Given the description of an element on the screen output the (x, y) to click on. 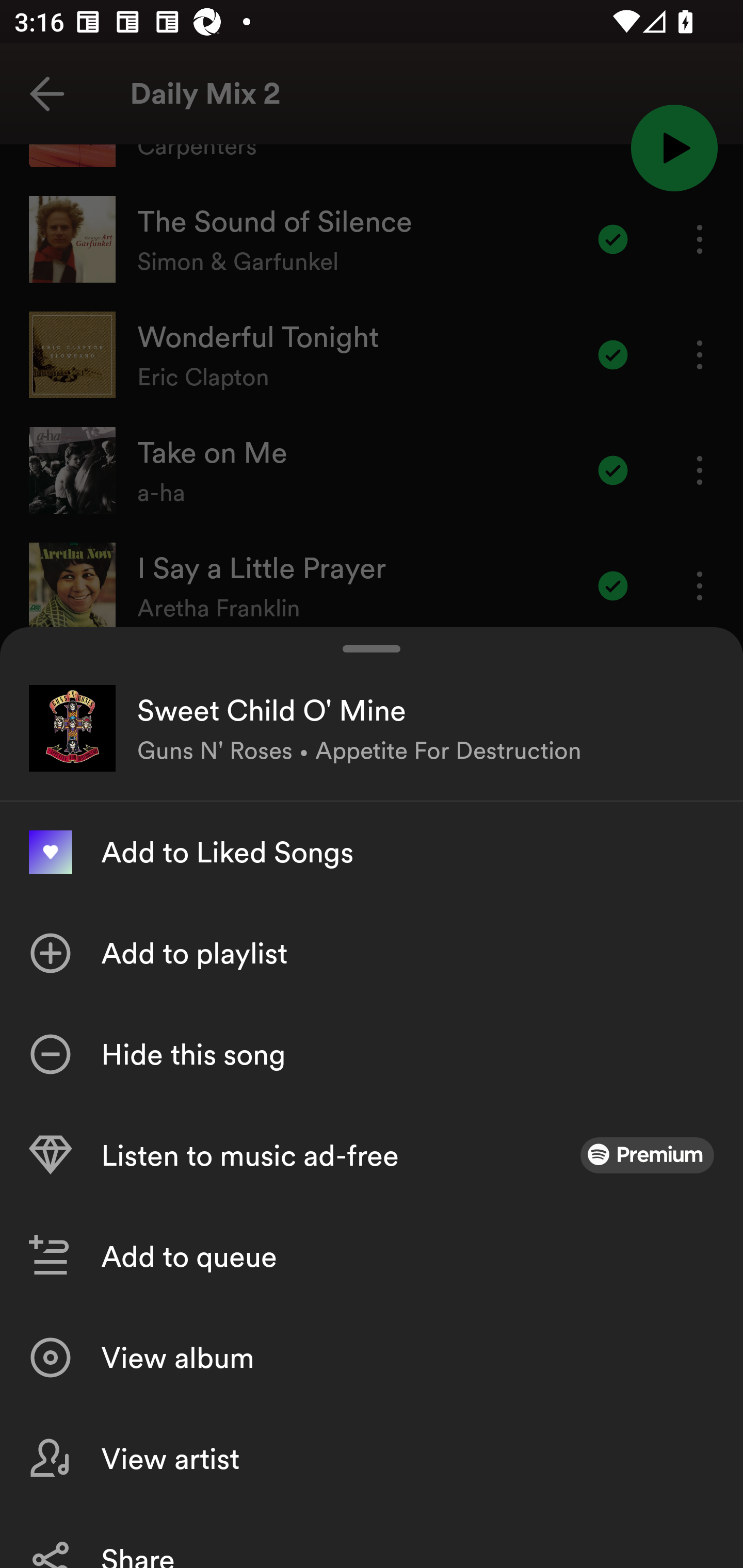
Add to Liked Songs (371, 852)
Add to playlist (371, 953)
Hide this song (371, 1054)
Listen to music ad-free (371, 1155)
Add to queue (371, 1256)
View album (371, 1357)
View artist (371, 1458)
Share (371, 1538)
